Given the description of an element on the screen output the (x, y) to click on. 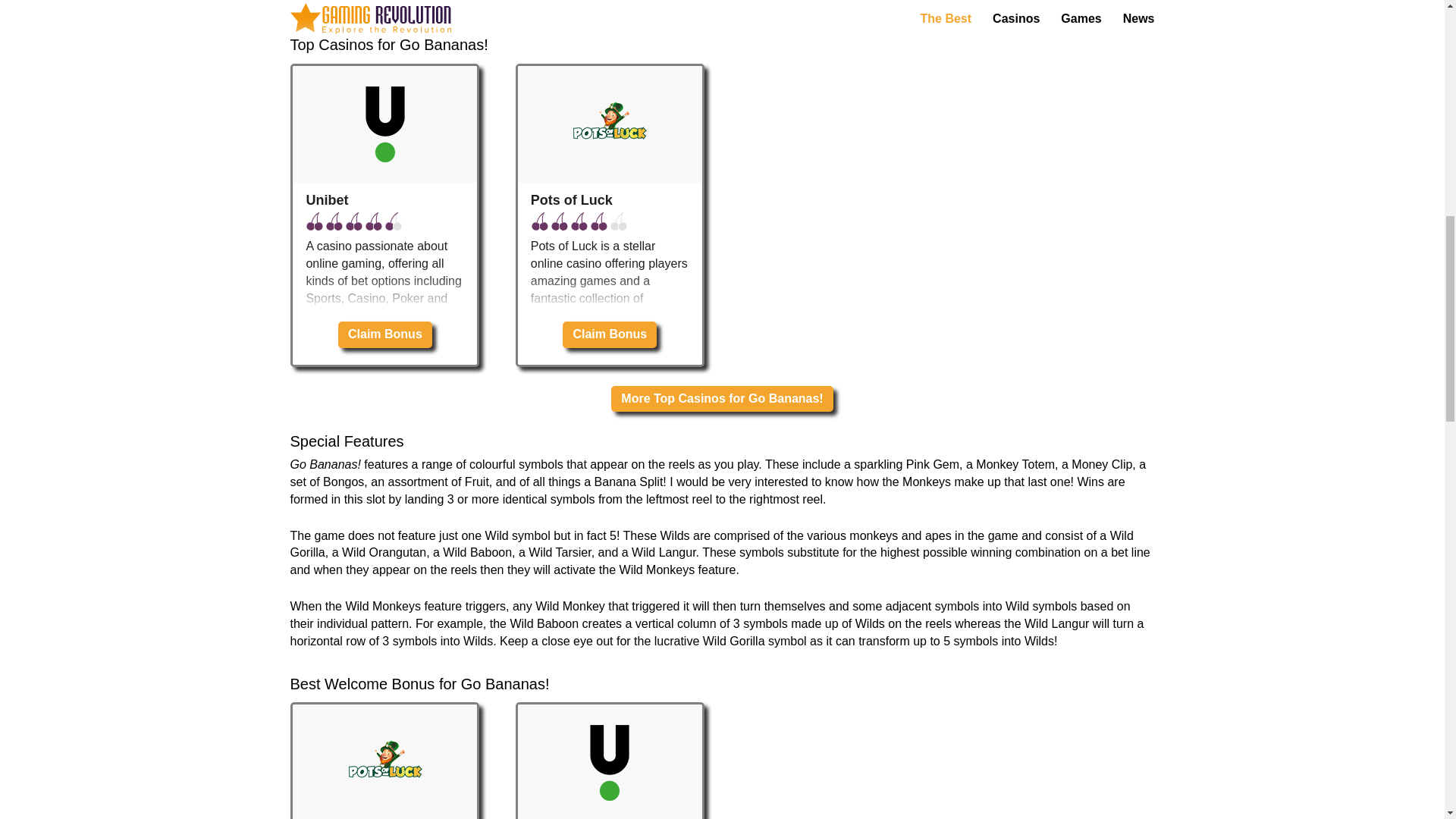
More Top Casinos for Go Bananas! (721, 398)
Claim Bonus (384, 334)
Claim Bonus (609, 334)
read (12, 611)
